Given the description of an element on the screen output the (x, y) to click on. 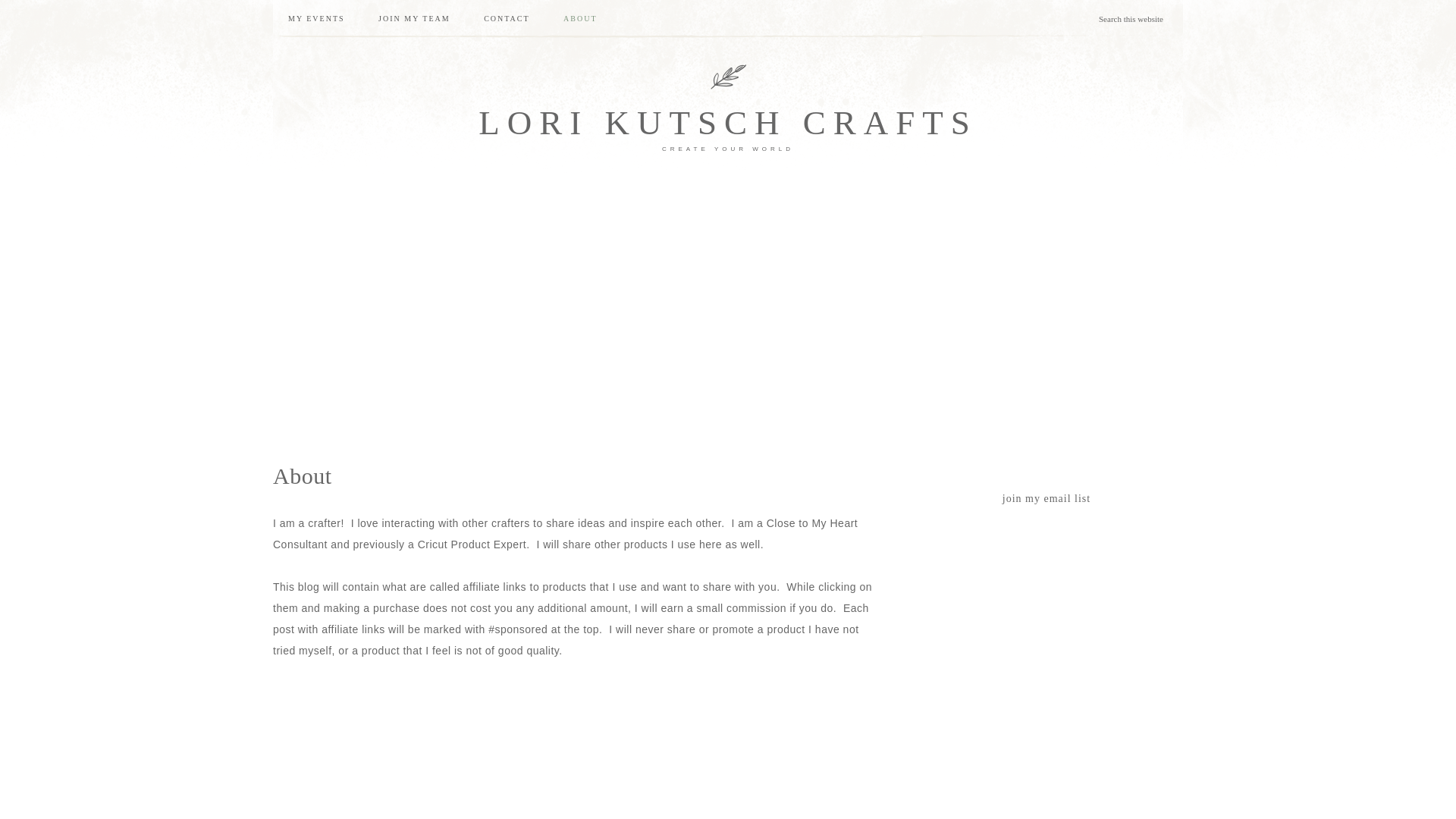
CONTACT (506, 18)
MY EVENTS (316, 18)
ABOUT (579, 18)
LORI KUTSCH CRAFTS (727, 122)
JOIN MY TEAM (413, 18)
